Given the description of an element on the screen output the (x, y) to click on. 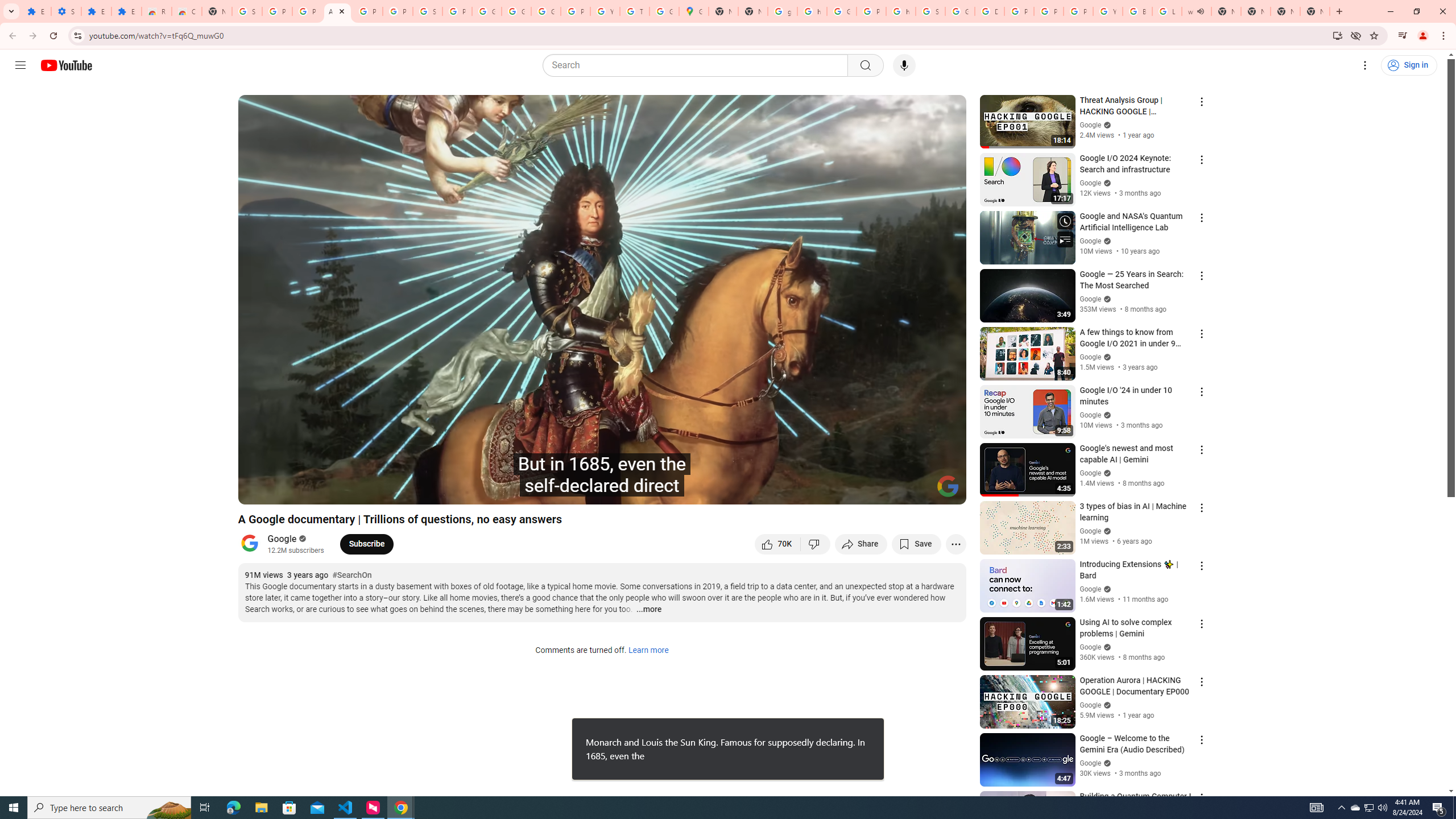
Dislike this video (815, 543)
Search with your voice (903, 65)
New Tab (1284, 11)
Privacy Help Center - Policies Help (1048, 11)
Google Account (486, 11)
Autoplay is on (808, 490)
